Given the description of an element on the screen output the (x, y) to click on. 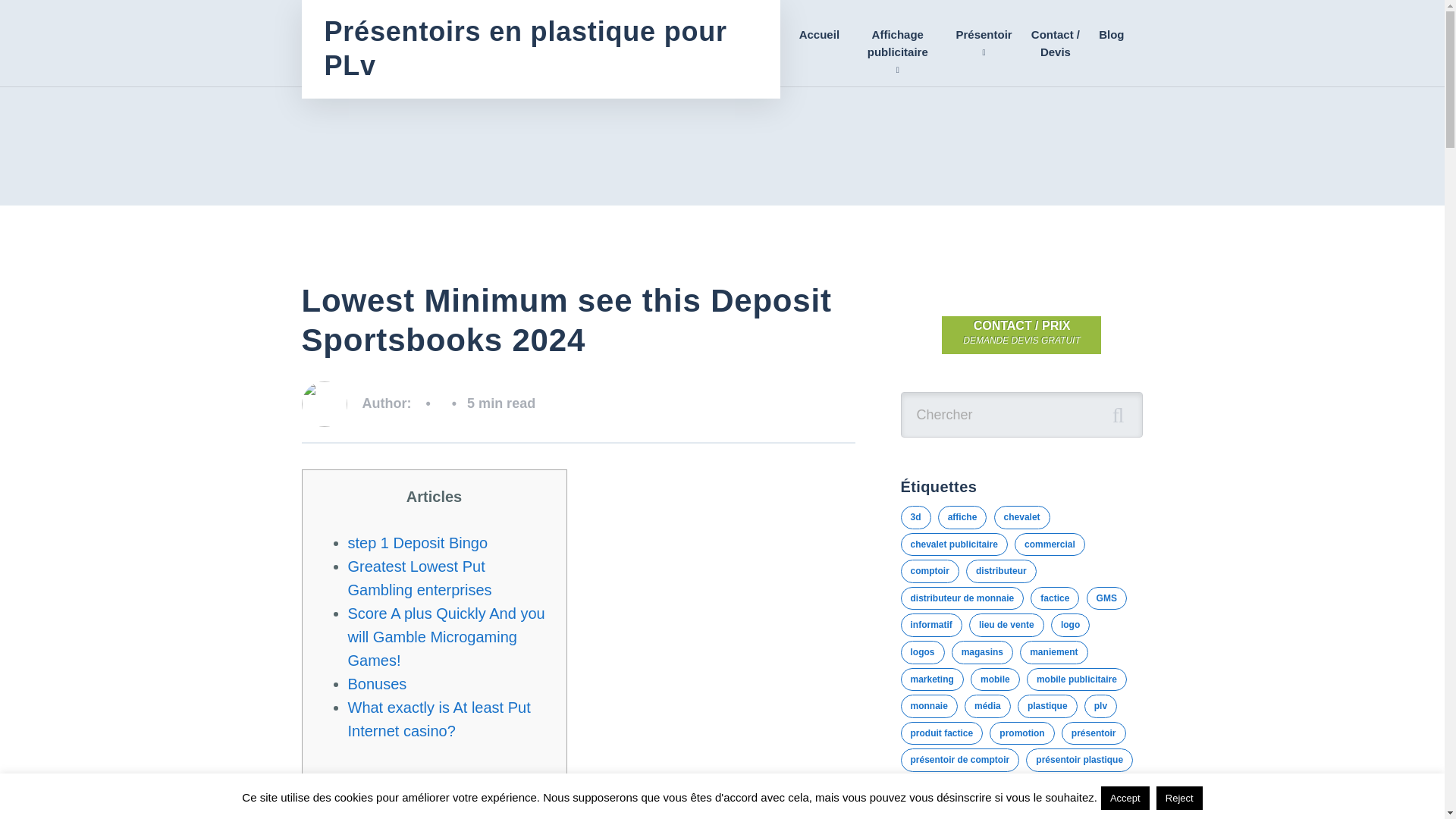
step 1 Deposit Bingo (417, 542)
Greatest Lowest Put Gambling enterprises (419, 577)
Affichage publicitaire (897, 43)
Bonuses (376, 683)
Score A plus Quickly And you will Gamble Microgaming Games! (445, 637)
What exactly is At least Put Internet casino? (438, 719)
